Given the description of an element on the screen output the (x, y) to click on. 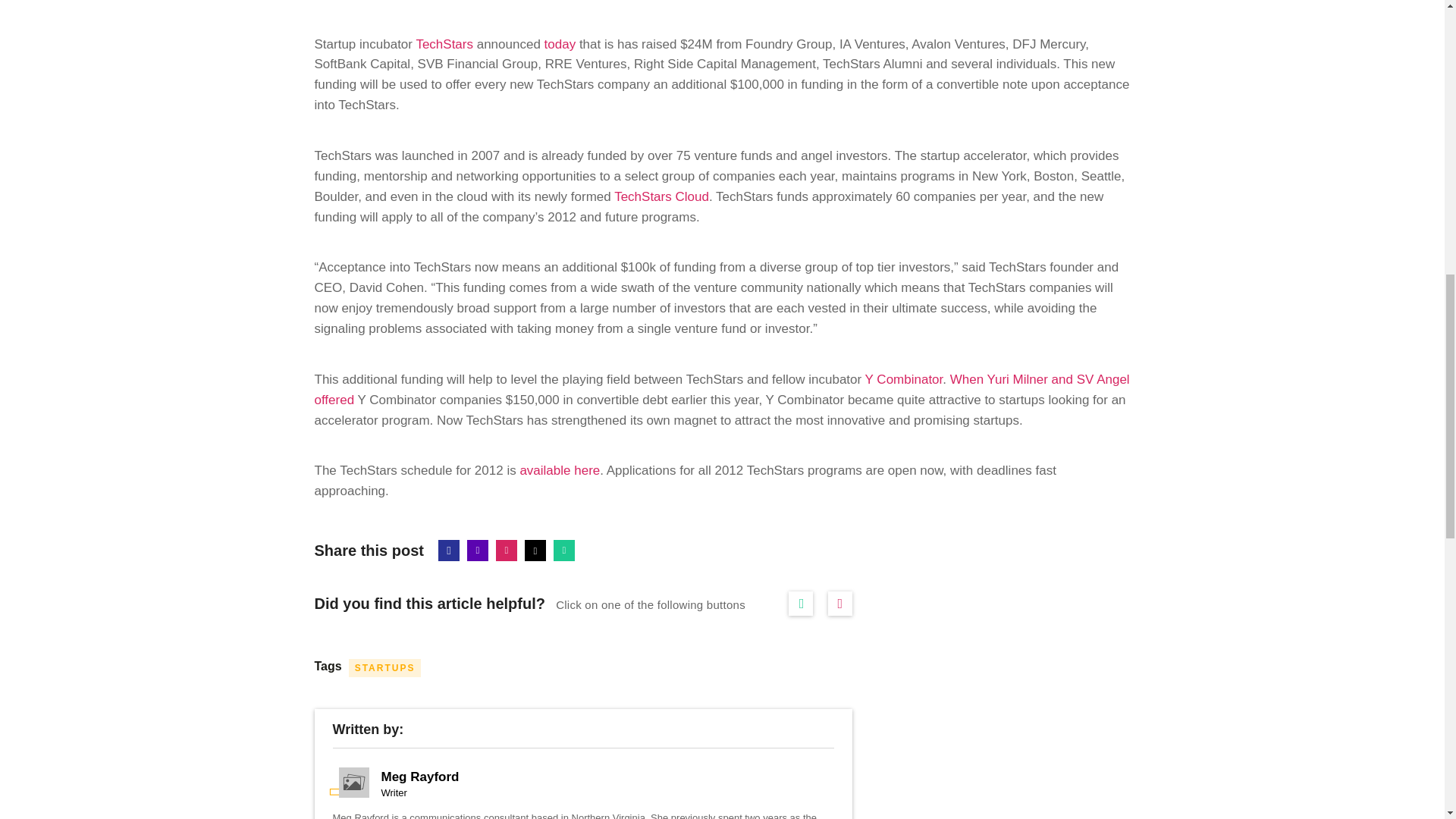
Flipboard (506, 550)
TechStars (443, 43)
Whatsapp (564, 550)
Twitter-x (535, 550)
TechStars announces funding (560, 43)
TechStars Cloud (661, 196)
article on TechCrunch (721, 389)
Facebook (449, 550)
Linkedin (477, 550)
TechStars schedule (559, 470)
Y Combinator (903, 379)
